Given the description of an element on the screen output the (x, y) to click on. 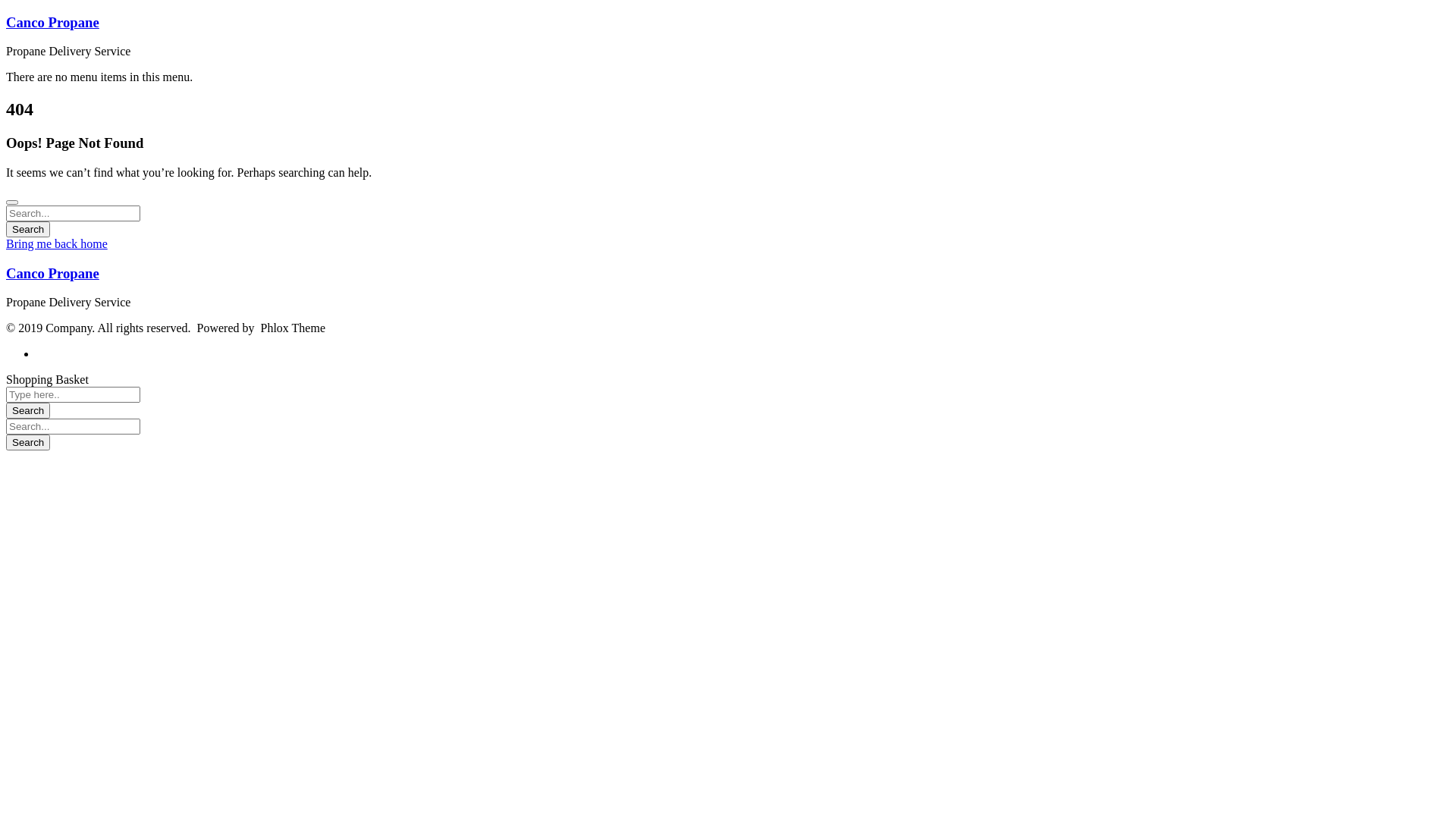
Canco Propane Element type: text (52, 22)
Search Element type: text (28, 442)
Search Element type: text (28, 410)
Canco Propane Element type: text (52, 273)
Search Element type: text (28, 229)
Bring me back home Element type: text (56, 243)
